Given the description of an element on the screen output the (x, y) to click on. 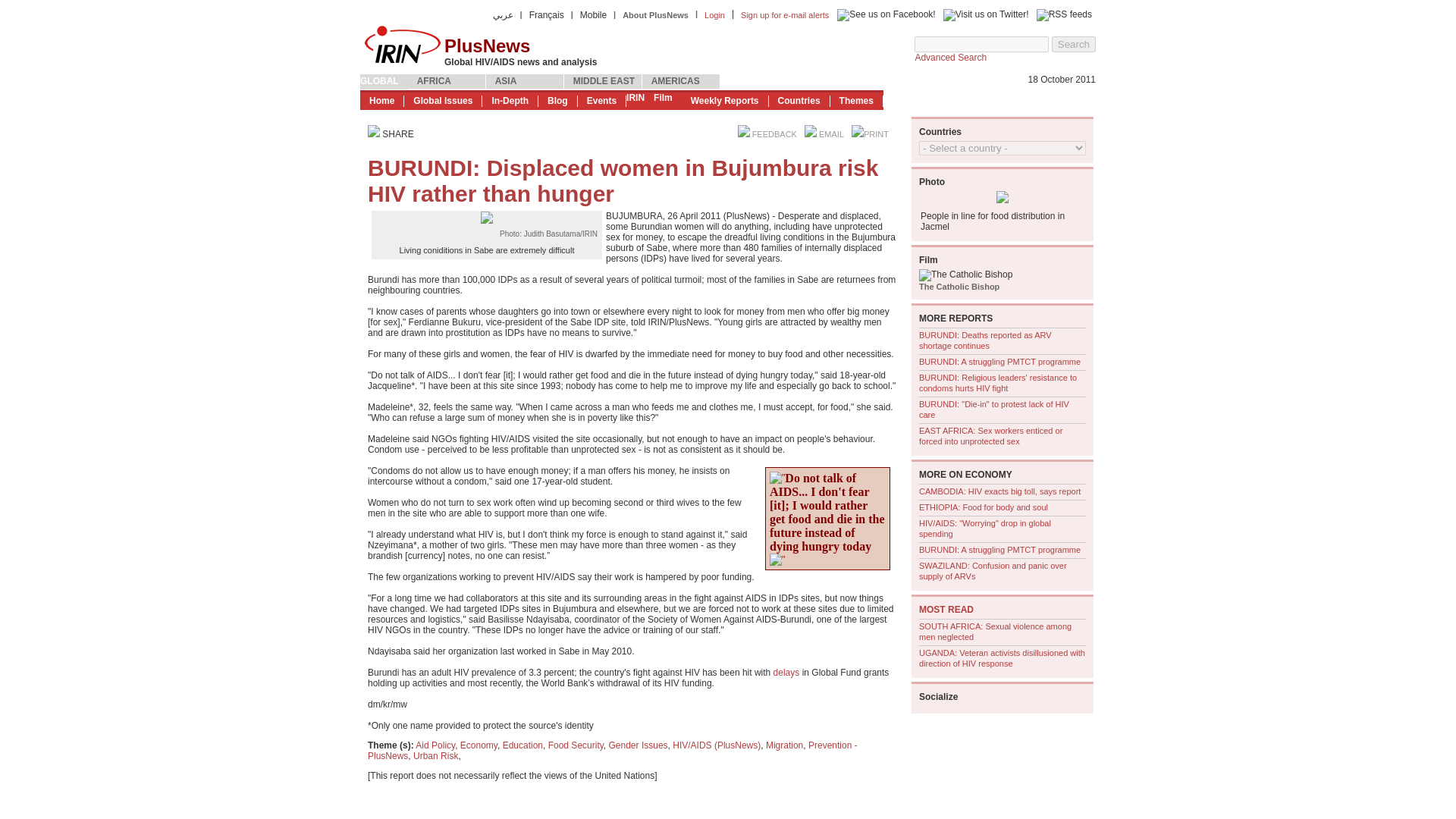
Sign up for e-mail alerts (784, 14)
AFRICA (446, 81)
Login (714, 14)
Search (1073, 44)
About PlusNews (655, 14)
Advanced Search (950, 57)
Search (1073, 44)
